Given the description of an element on the screen output the (x, y) to click on. 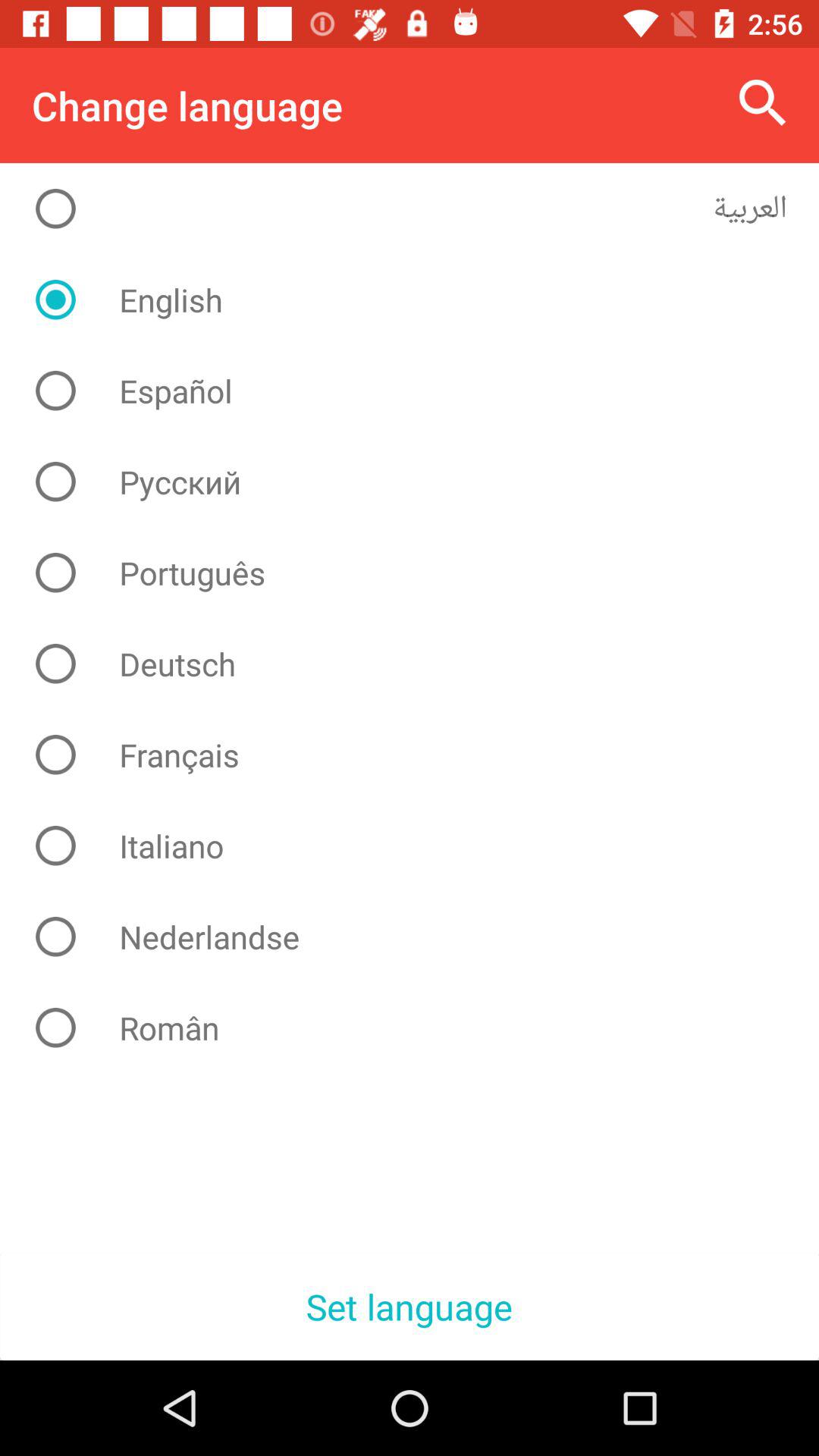
press item above the italiano (421, 754)
